Given the description of an element on the screen output the (x, y) to click on. 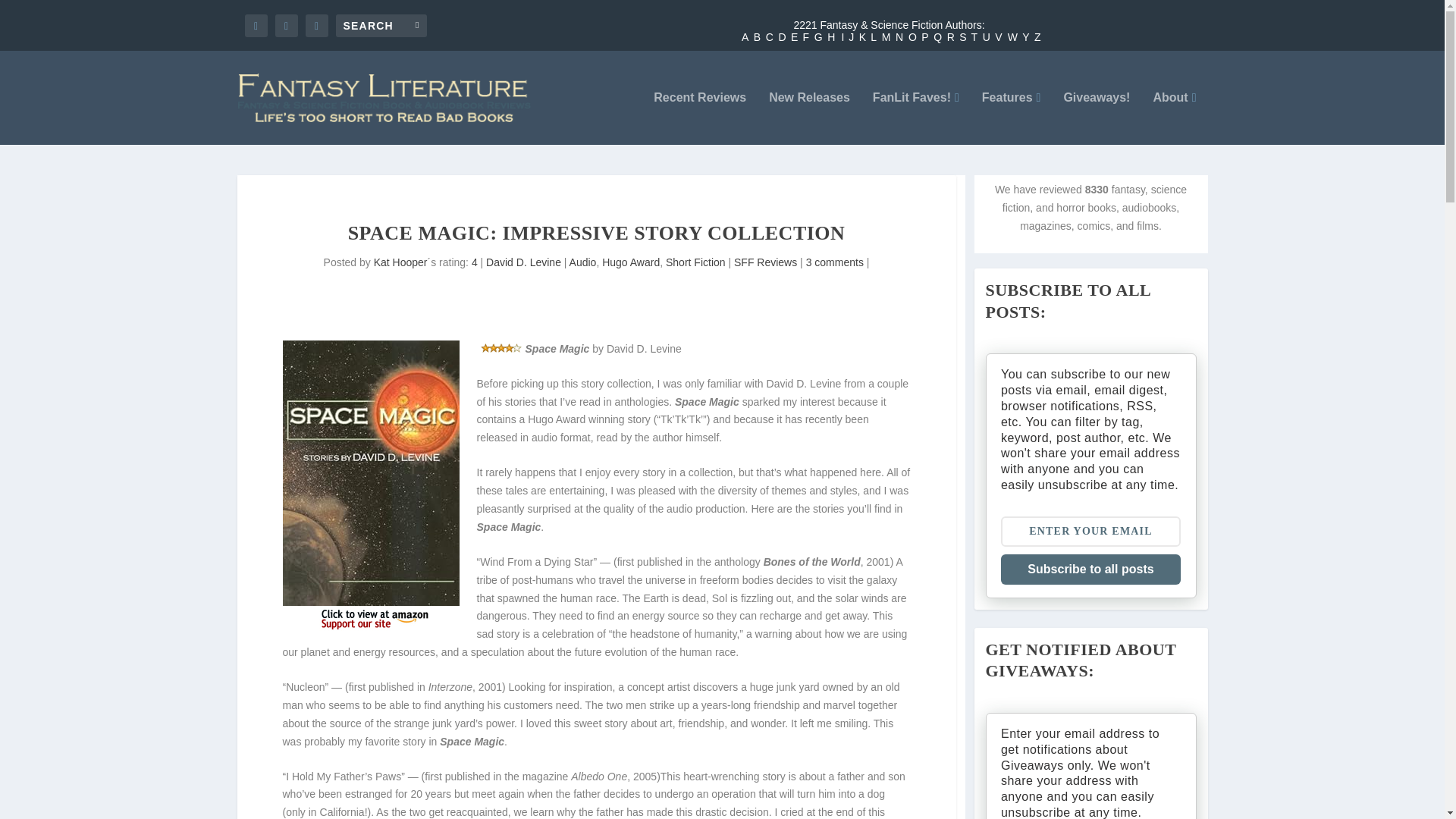
Search for: (380, 24)
Posts by Kat Hooper (401, 262)
FanLit Faves! (915, 117)
